Given the description of an element on the screen output the (x, y) to click on. 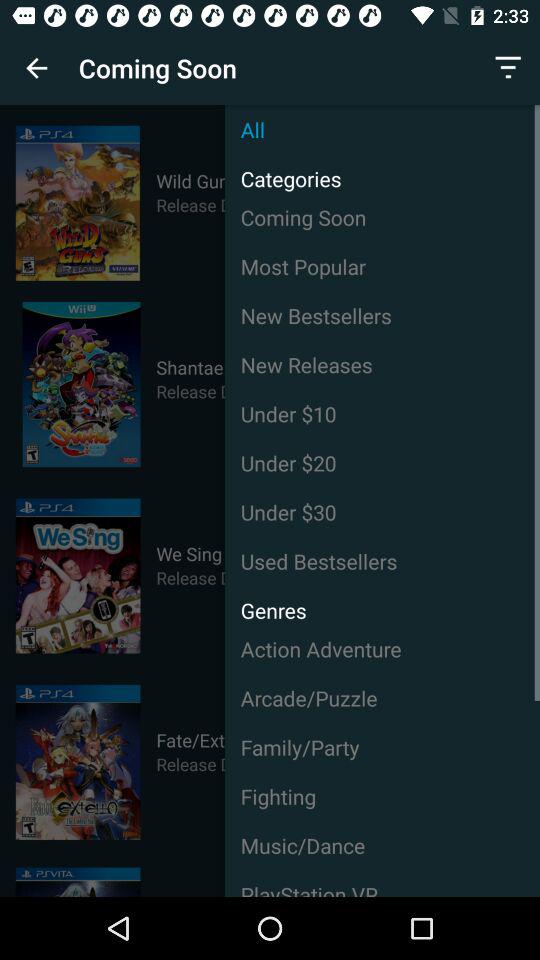
click icon below new bestsellers icon (382, 364)
